Given the description of an element on the screen output the (x, y) to click on. 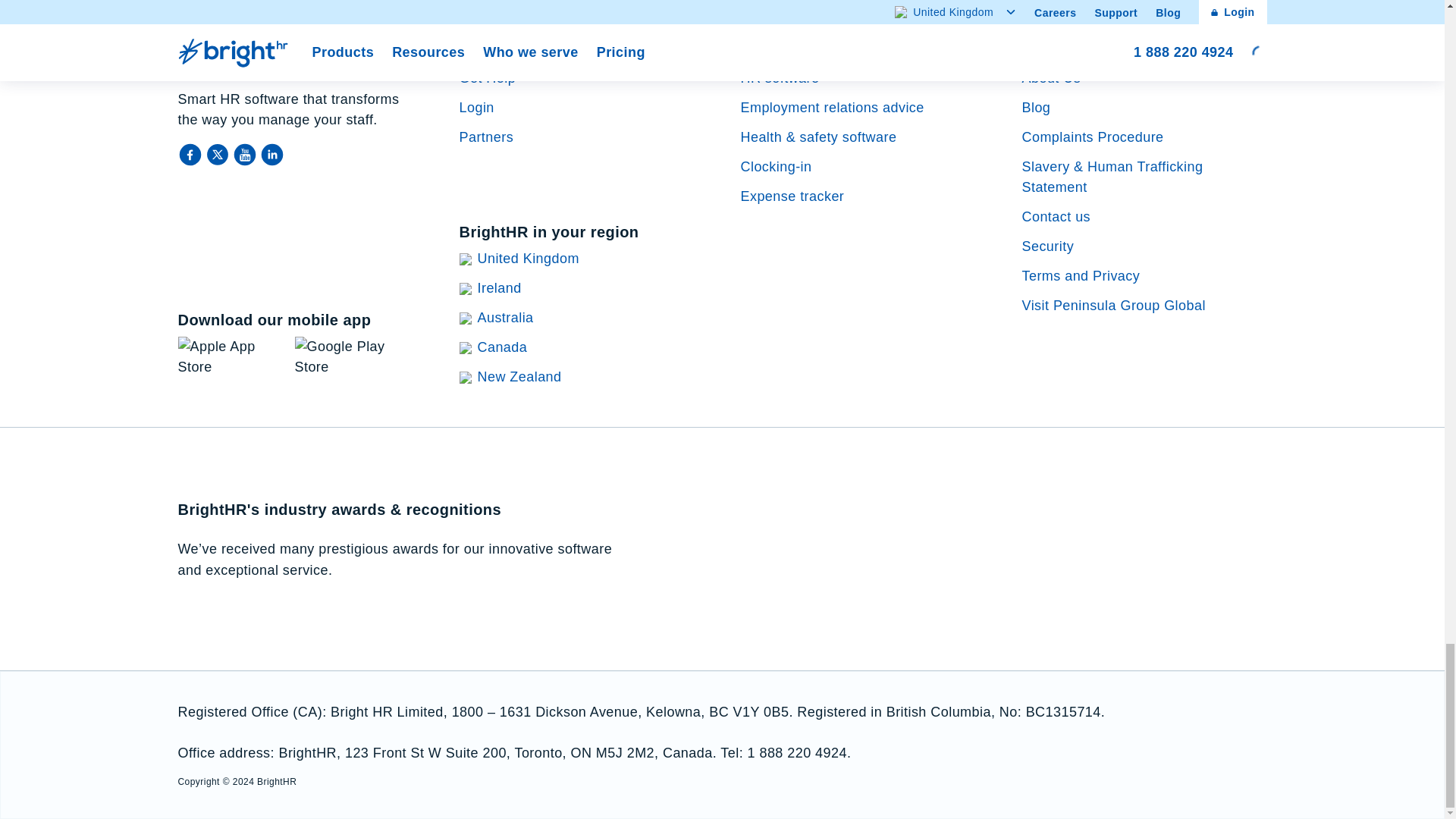
Facebook (191, 154)
Youtube (245, 154)
Twitter (218, 154)
LinkedIn (271, 154)
